Given the description of an element on the screen output the (x, y) to click on. 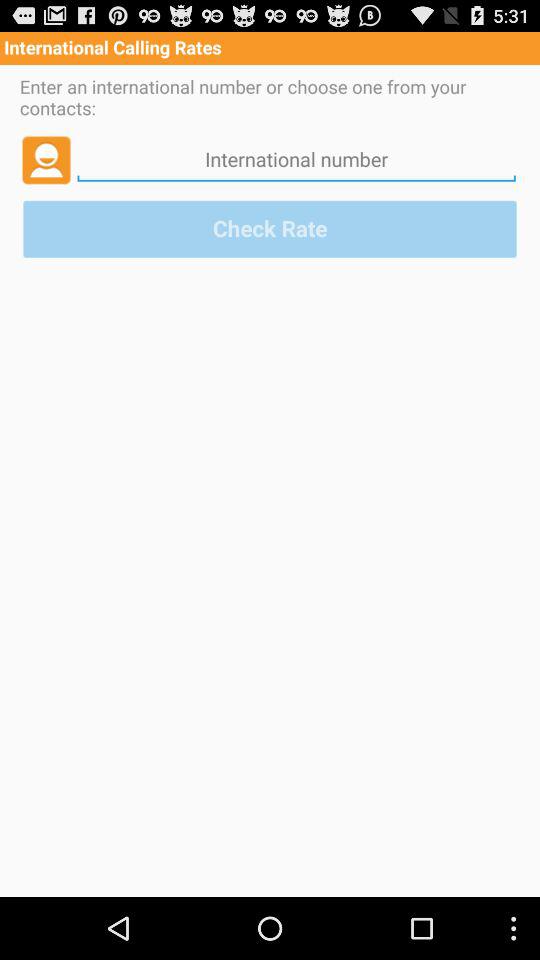
enter international phone number (296, 159)
